Given the description of an element on the screen output the (x, y) to click on. 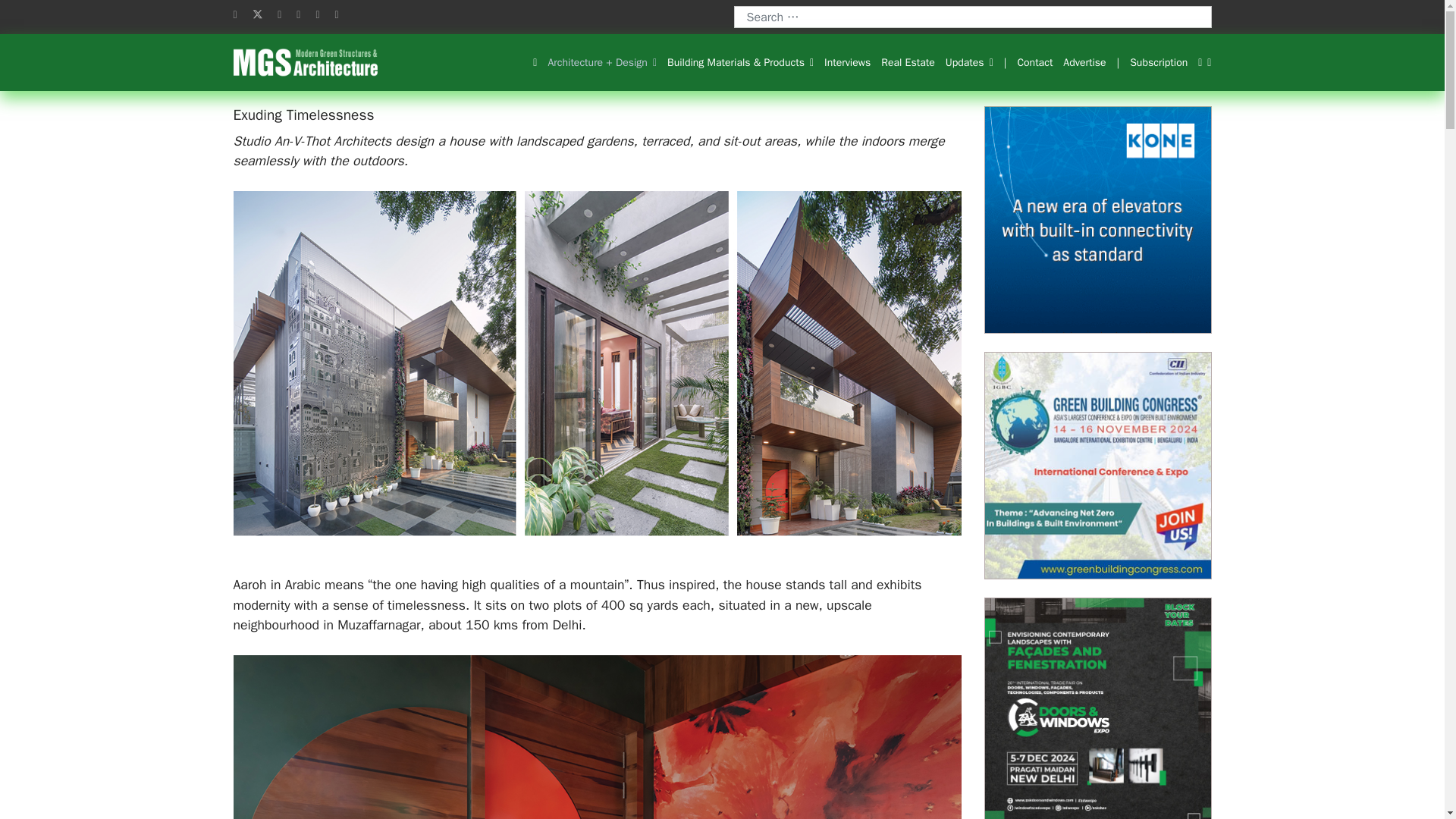
Subscription (1158, 62)
Advertise (1084, 62)
Interviews (847, 62)
Real Estate (907, 62)
Contact (1034, 62)
